Given the description of an element on the screen output the (x, y) to click on. 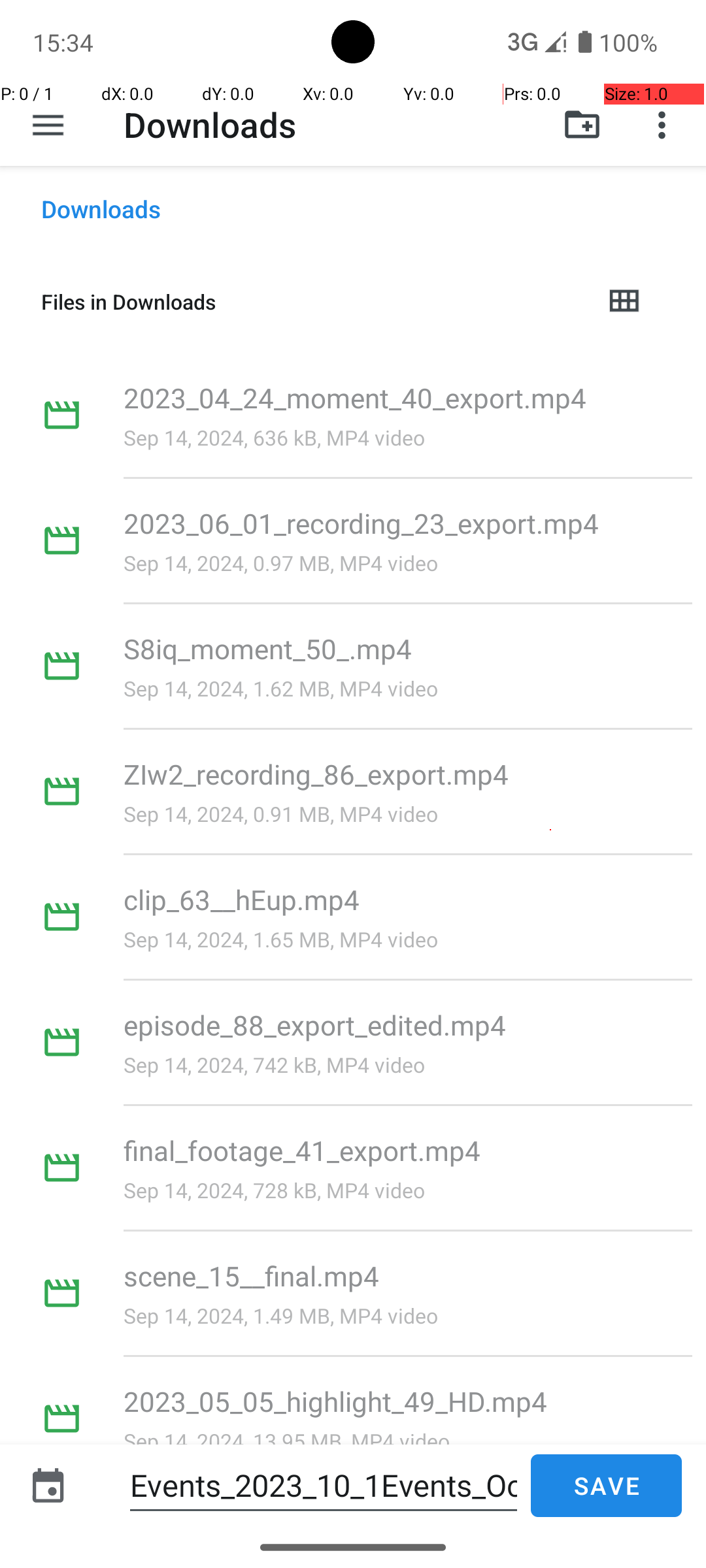
New folder Element type: android.widget.TextView (581, 124)
Events_2023_10_1Events_October_2023_Backup5_15_34_12.ics Element type: android.widget.EditText (323, 1485)
2023_04_24_moment_40_export.mp4 Element type: android.widget.TextView (355, 397)
Sep 14, 2024, 636 kB, MP4 video Element type: android.widget.TextView (273, 437)
2023_06_01_recording_23_export.mp4 Element type: android.widget.TextView (361, 522)
Sep 14, 2024, 0.97 MB, MP4 video Element type: android.widget.TextView (280, 562)
S8iq_moment_50_.mp4 Element type: android.widget.TextView (267, 648)
Sep 14, 2024, 1.62 MB, MP4 video Element type: android.widget.TextView (280, 688)
ZIw2_recording_86_export.mp4 Element type: android.widget.TextView (316, 773)
Sep 14, 2024, 0.91 MB, MP4 video Element type: android.widget.TextView (280, 813)
clip_63__hEup.mp4 Element type: android.widget.TextView (241, 898)
Sep 14, 2024, 1.65 MB, MP4 video Element type: android.widget.TextView (280, 939)
episode_88_export_edited.mp4 Element type: android.widget.TextView (314, 1024)
Sep 14, 2024, 742 kB, MP4 video Element type: android.widget.TextView (273, 1064)
final_footage_41_export.mp4 Element type: android.widget.TextView (302, 1149)
Sep 14, 2024, 728 kB, MP4 video Element type: android.widget.TextView (273, 1190)
scene_15__final.mp4 Element type: android.widget.TextView (251, 1275)
Sep 14, 2024, 1.49 MB, MP4 video Element type: android.widget.TextView (280, 1315)
2023_05_05_highlight_49_HD.mp4 Element type: android.widget.TextView (335, 1400)
Sep 14, 2024, 13.95 MB, MP4 video Element type: android.widget.TextView (286, 1440)
